Given the description of an element on the screen output the (x, y) to click on. 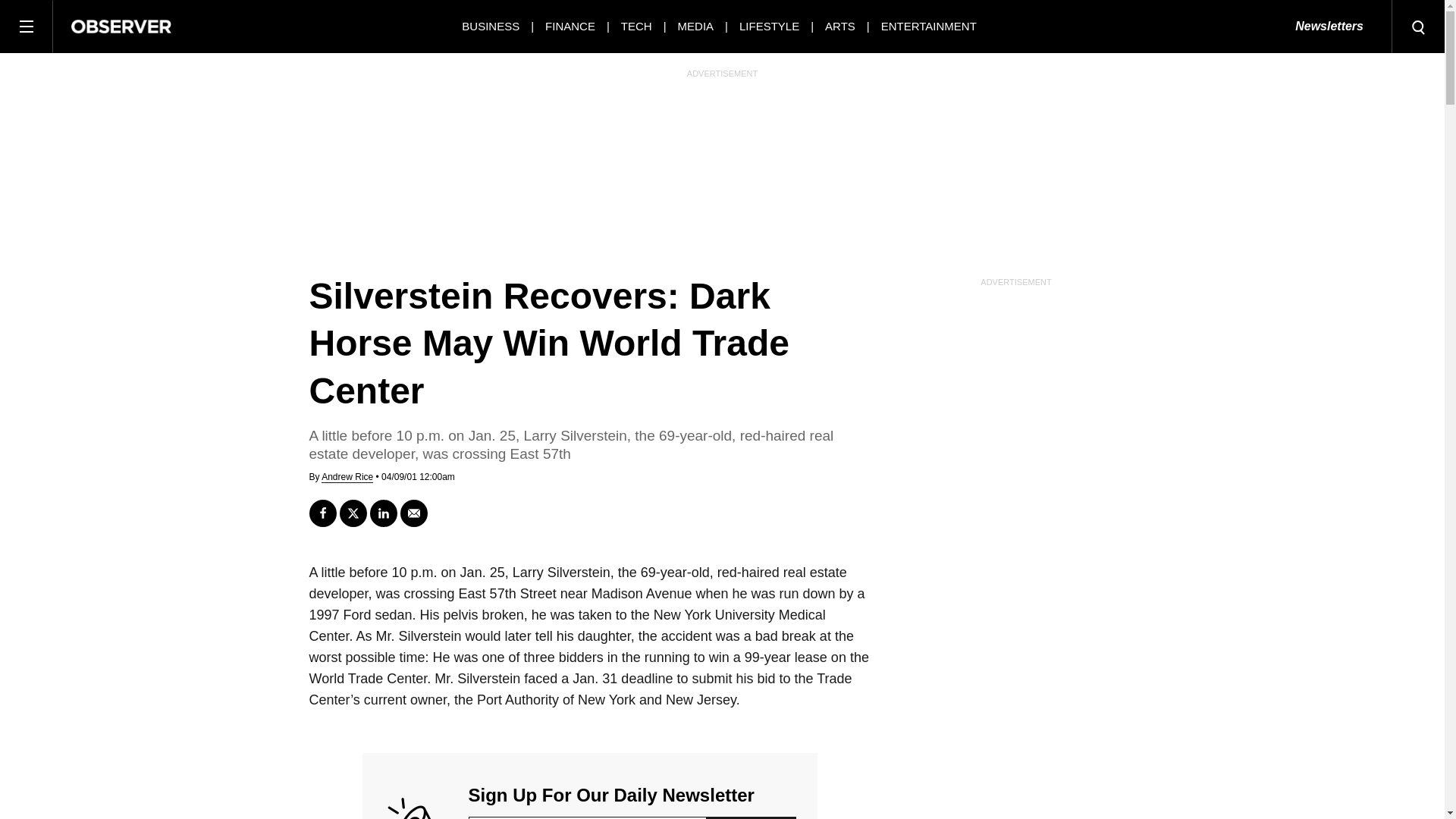
BUSINESS (490, 25)
Send email (414, 513)
ENTERTAINMENT (928, 25)
Observer (121, 26)
Tweet (352, 513)
Share on Facebook (322, 513)
Share on LinkedIn (383, 513)
MEDIA (696, 25)
ARTS (840, 25)
TECH (636, 25)
